Given the description of an element on the screen output the (x, y) to click on. 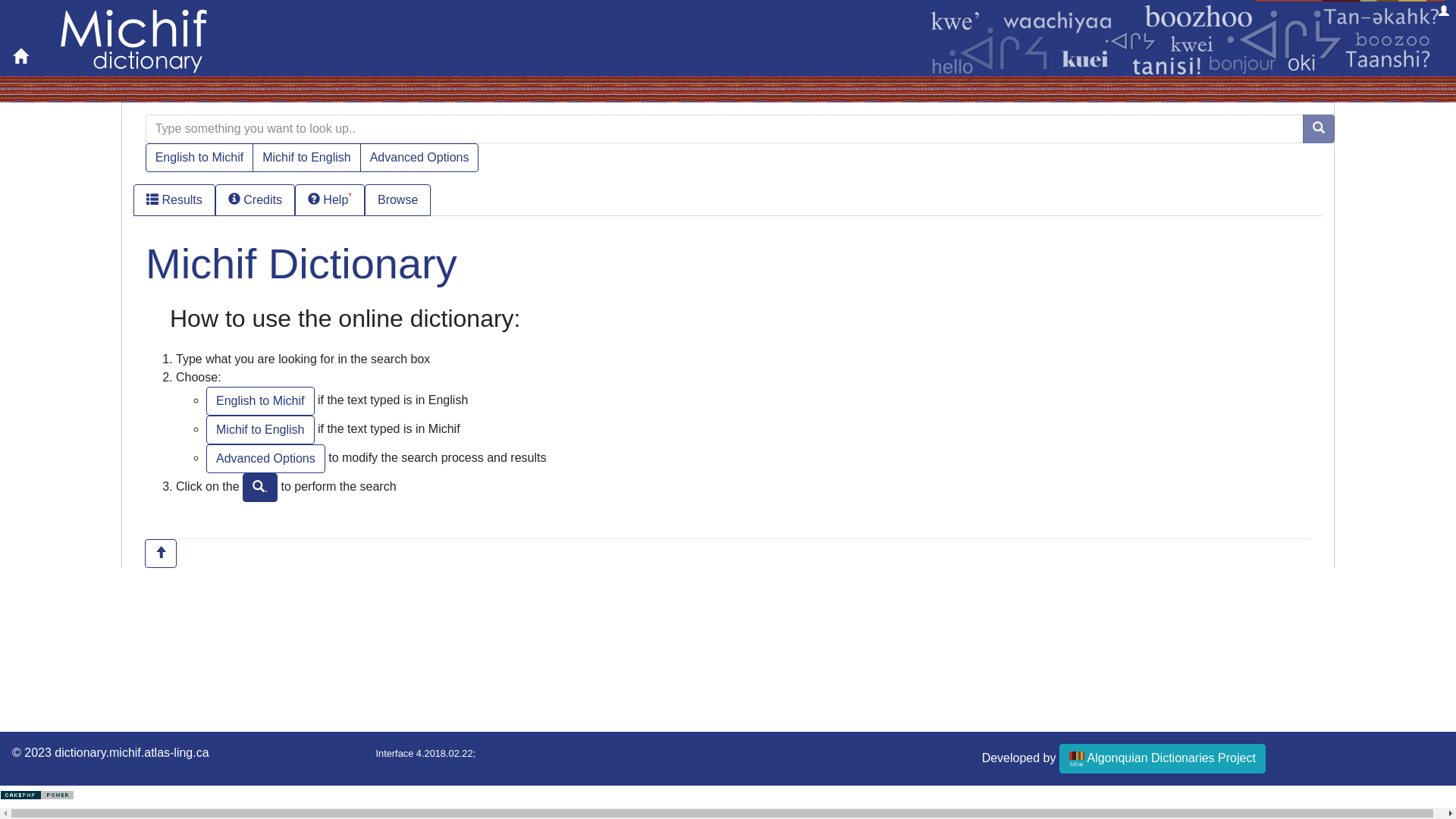
Credits Element type: text (254, 200)
Results Element type: text (174, 200)
. Element type: text (259, 487)
top of page Element type: hover (160, 553)
Algonquian Dictionaries Project Element type: text (1162, 758)
Help* Element type: text (329, 200)
Browse Element type: text (397, 200)
